Given the description of an element on the screen output the (x, y) to click on. 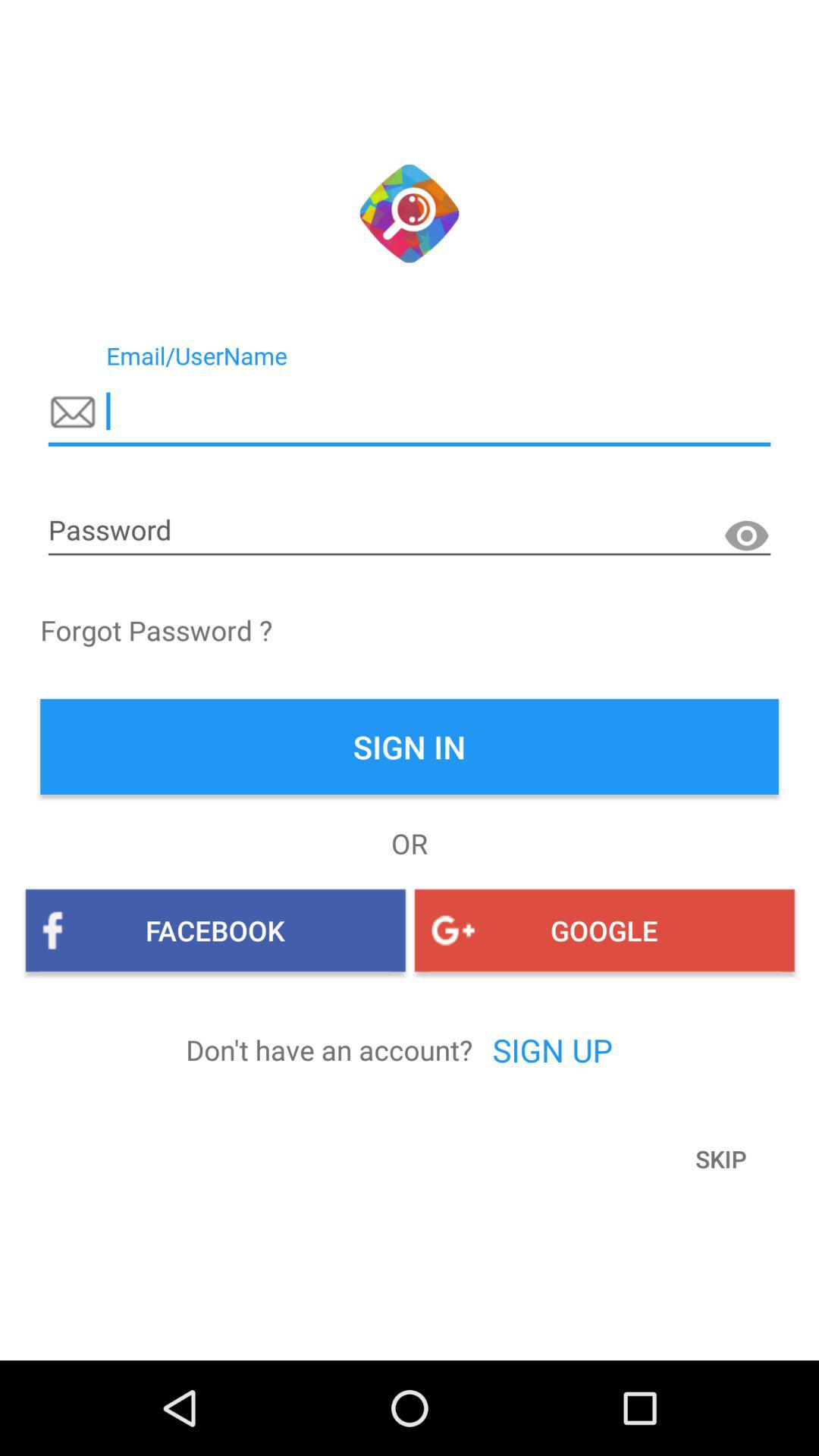
make password visible (746, 536)
